Given the description of an element on the screen output the (x, y) to click on. 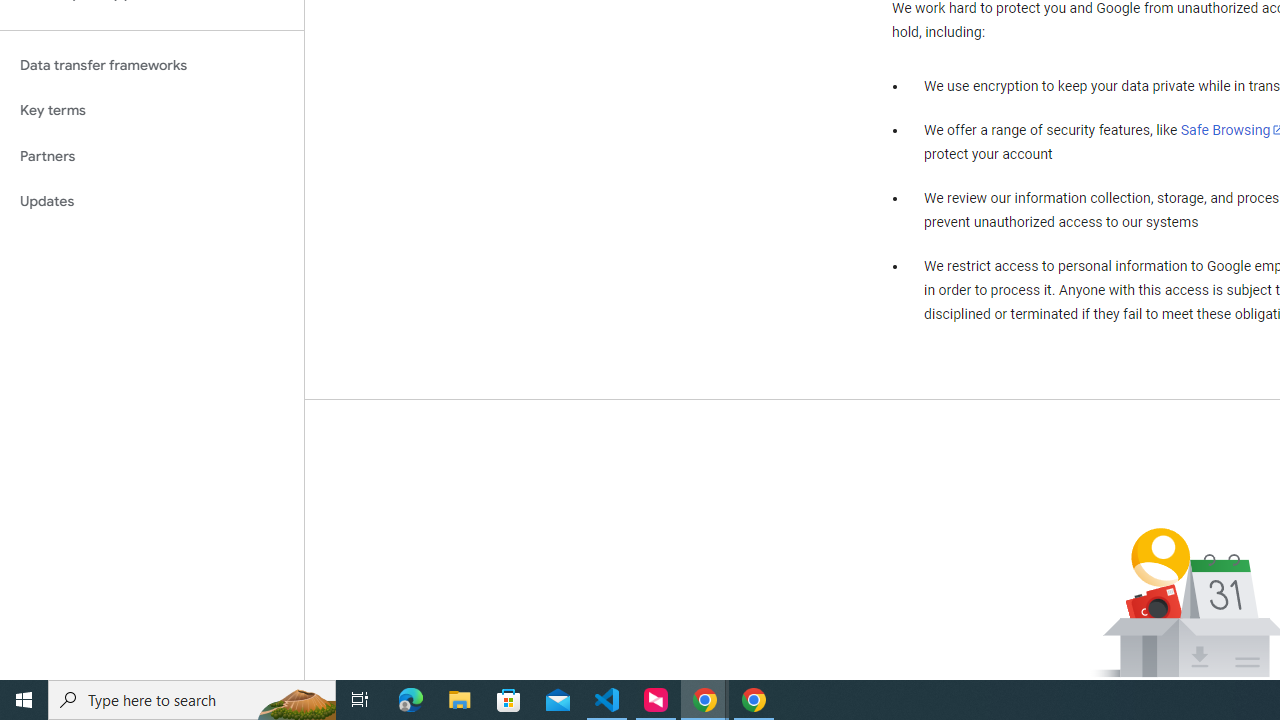
Partners (152, 156)
Key terms (152, 110)
Updates (152, 201)
Data transfer frameworks (152, 65)
